Given the description of an element on the screen output the (x, y) to click on. 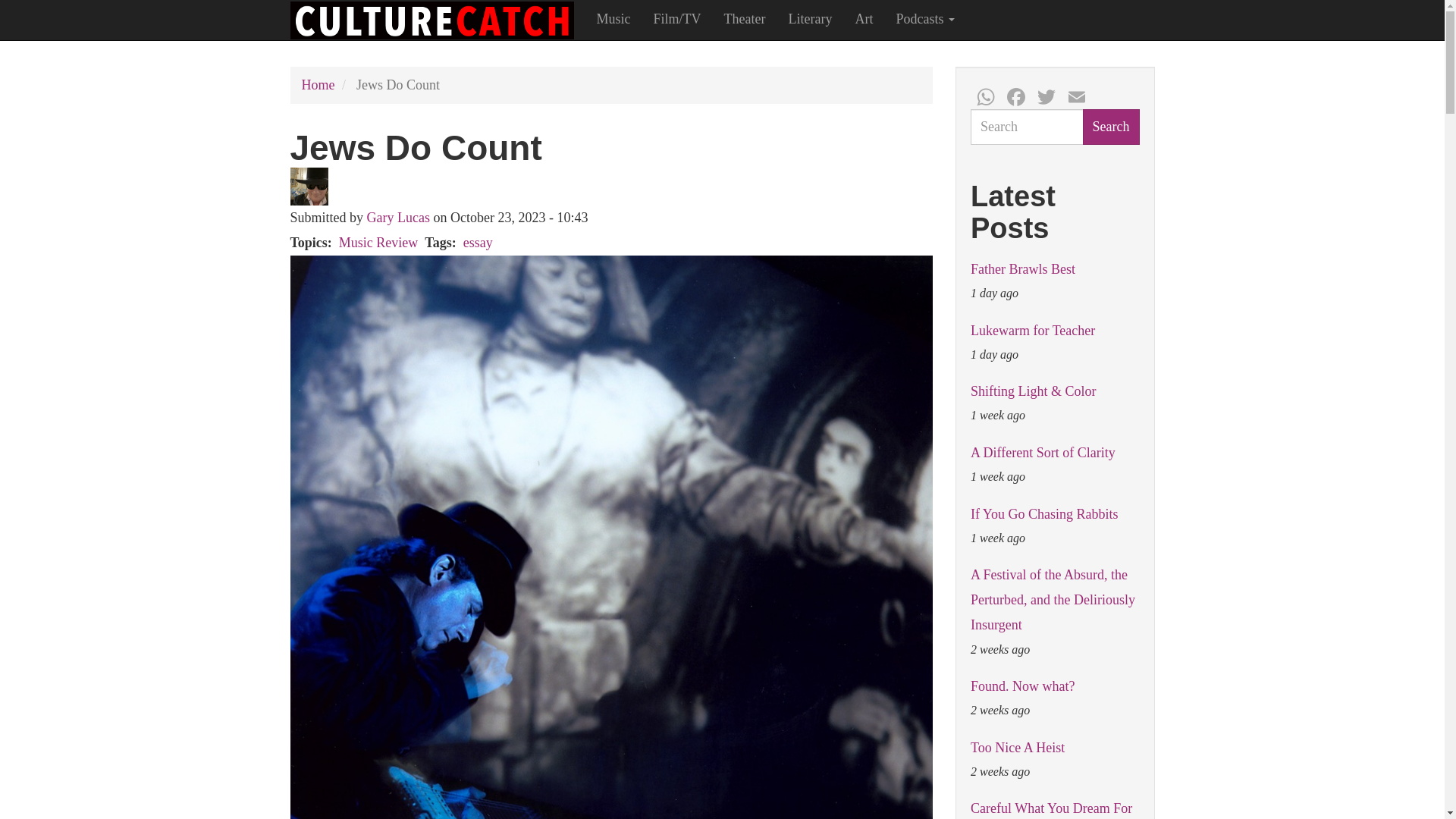
View user profile. (397, 217)
essay (478, 242)
Art (863, 18)
Home (437, 20)
Gary Lucas (397, 217)
Art (863, 18)
Literary (809, 18)
Music (613, 18)
Theater (745, 18)
Literary (809, 18)
Theater (745, 18)
Music Review (378, 242)
Home (317, 84)
Podcasts (924, 18)
